Given the description of an element on the screen output the (x, y) to click on. 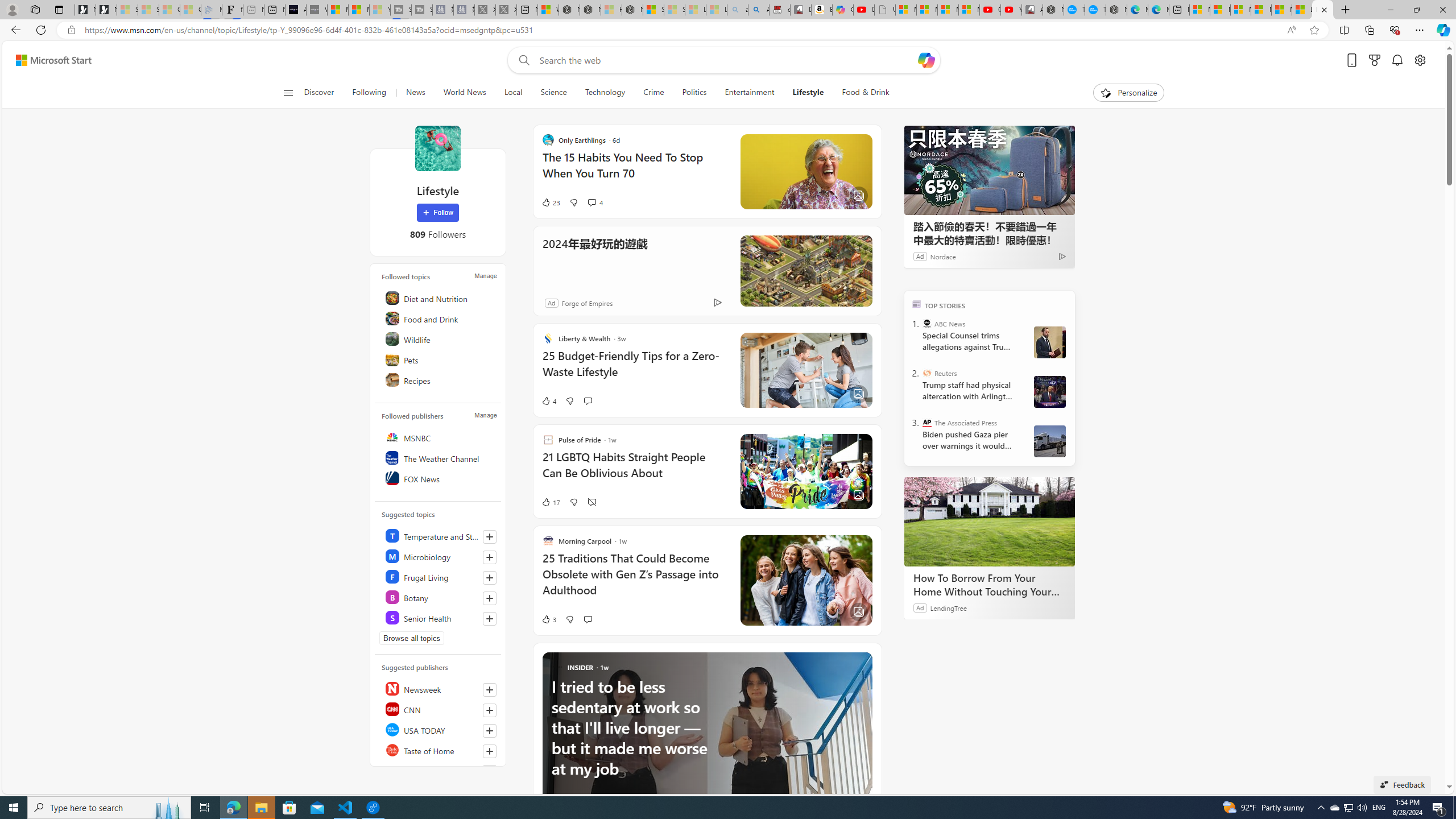
Microsoft rewards (1374, 60)
Lifestyle (808, 92)
News (415, 92)
Browse all topics (412, 638)
Open Copilot (926, 59)
Crime (653, 92)
Microsoft Start (1281, 9)
21 LGBTQ Habits Straight People Can Be Oblivious About (633, 470)
Microsoft Start (53, 60)
Open Copilot (925, 59)
